Given the description of an element on the screen output the (x, y) to click on. 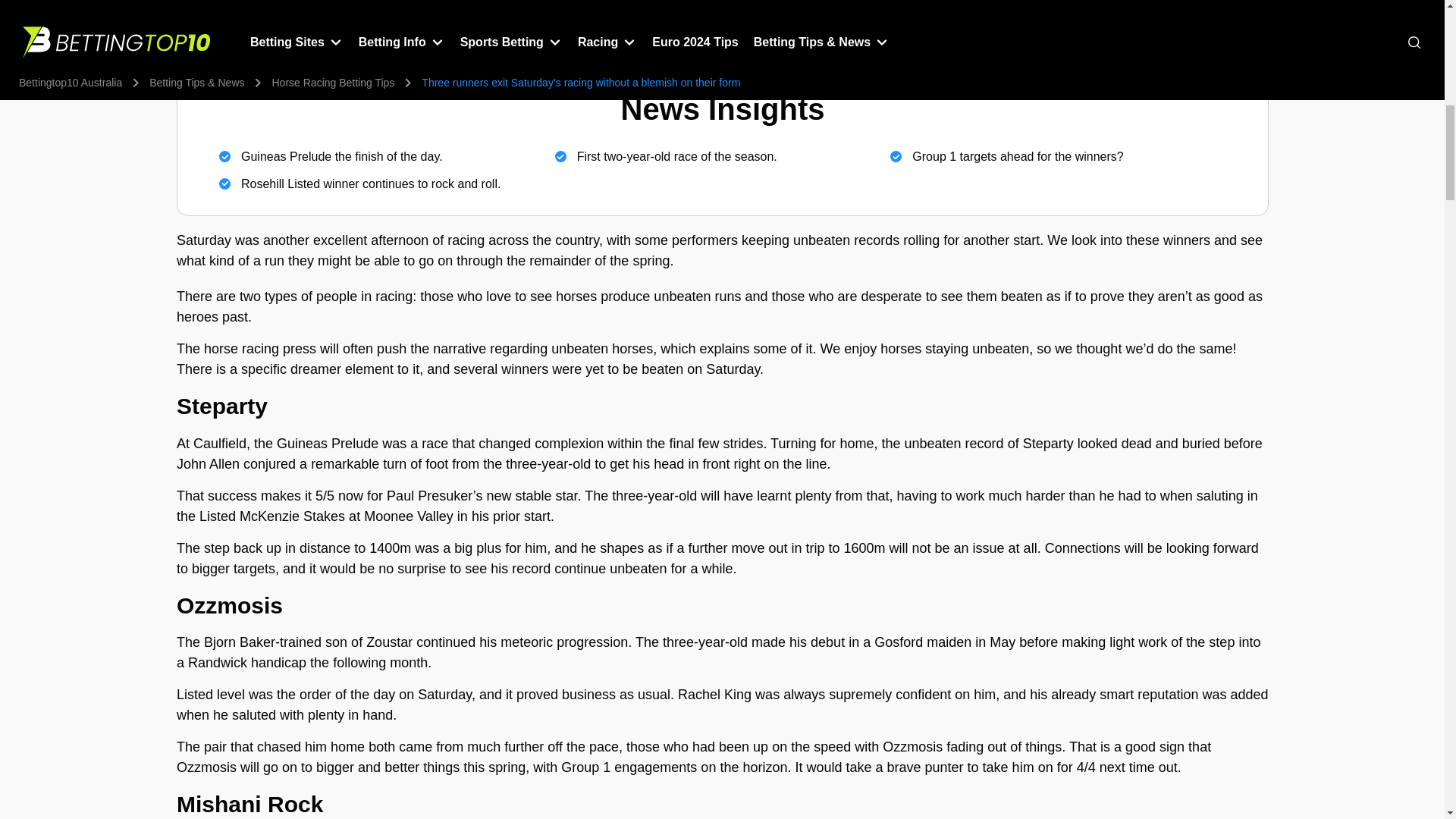
Horse Racing News (722, 7)
